Given the description of an element on the screen output the (x, y) to click on. 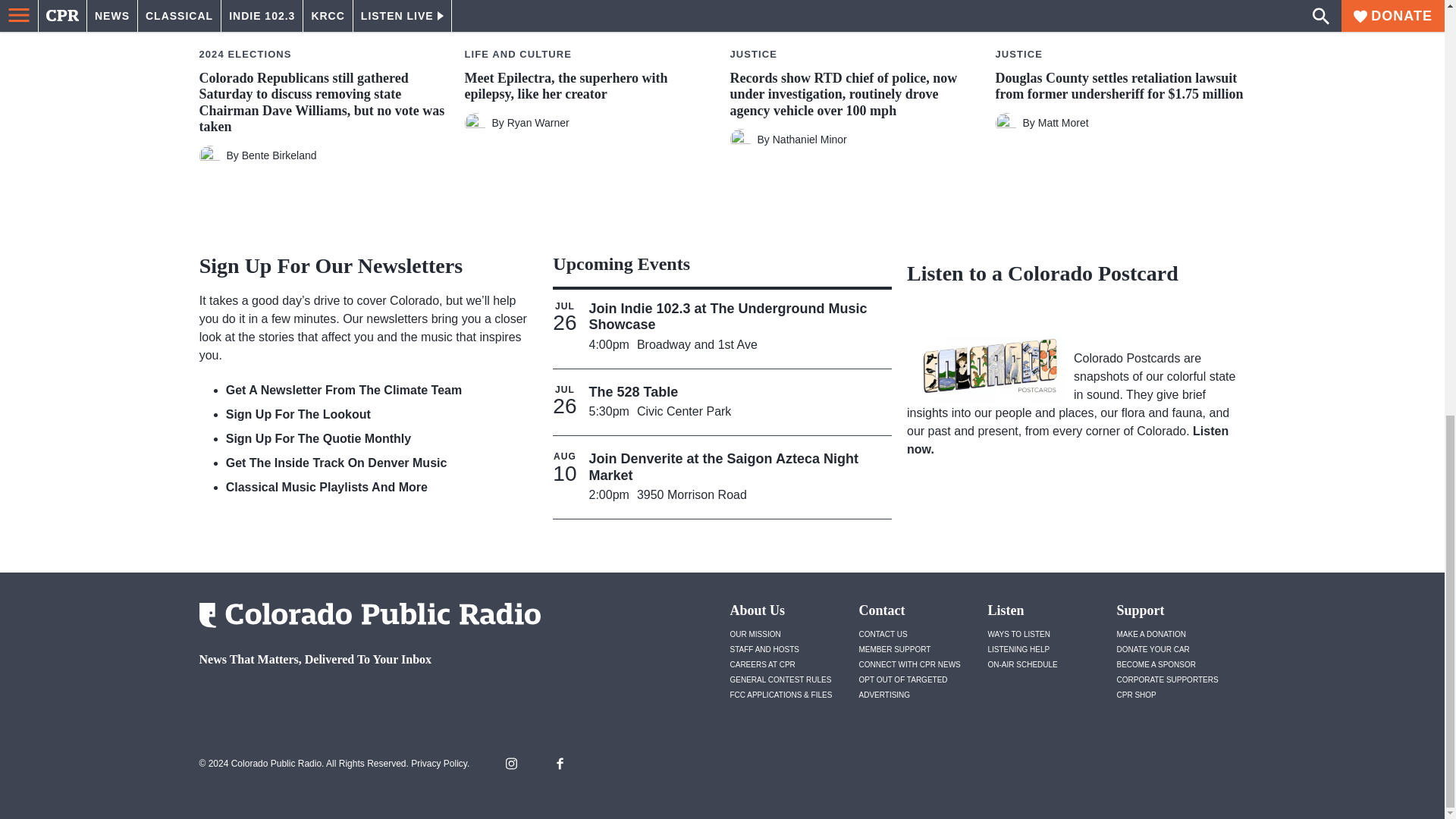
footer (364, 699)
